Given the description of an element on the screen output the (x, y) to click on. 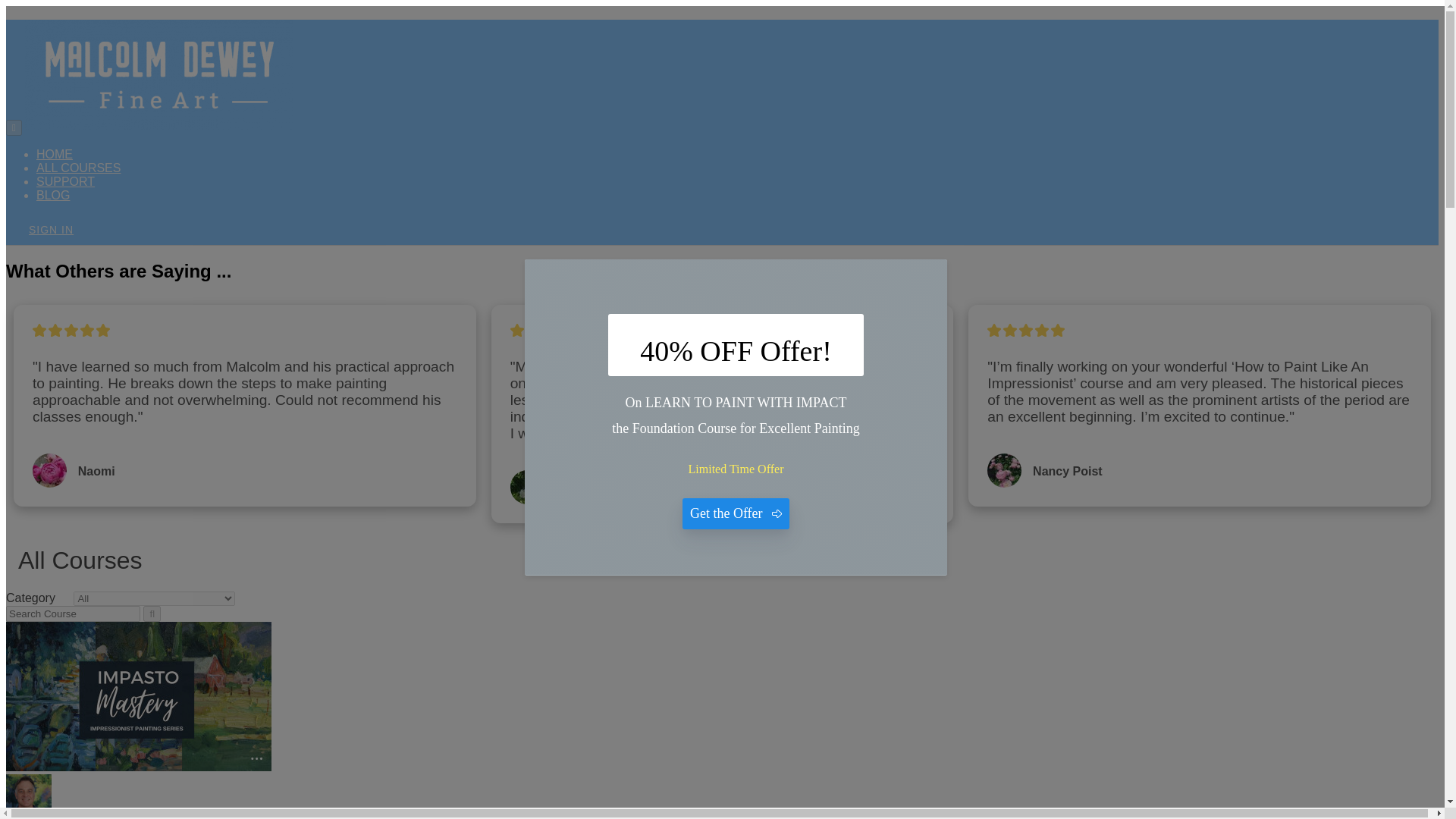
SIGN IN (50, 229)
SUPPORT (65, 181)
ALL COURSES (78, 167)
Toggle navigation (13, 127)
BLOG (52, 195)
HOME (54, 154)
